Given the description of an element on the screen output the (x, y) to click on. 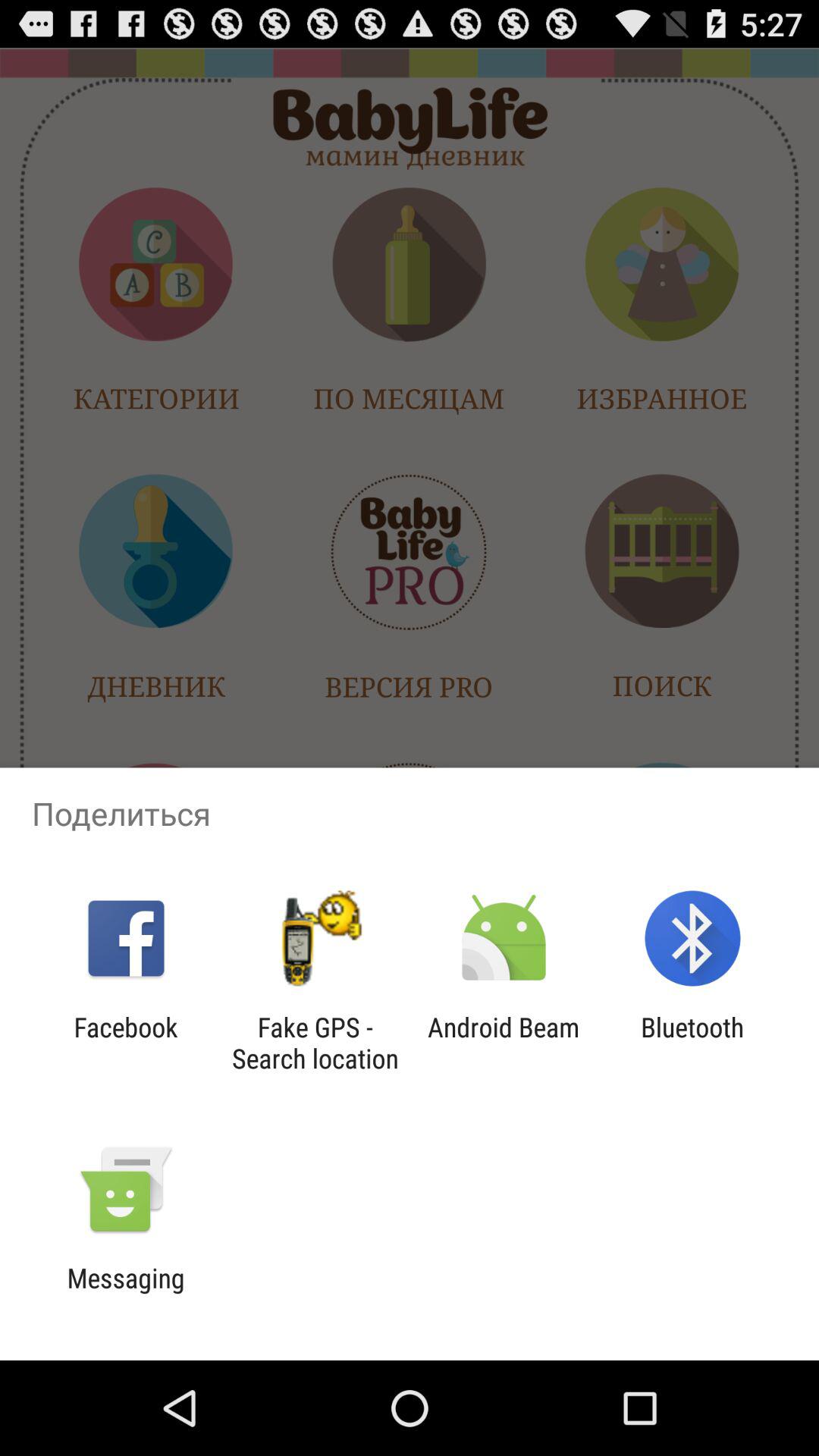
turn on the app to the left of android beam (314, 1042)
